Given the description of an element on the screen output the (x, y) to click on. 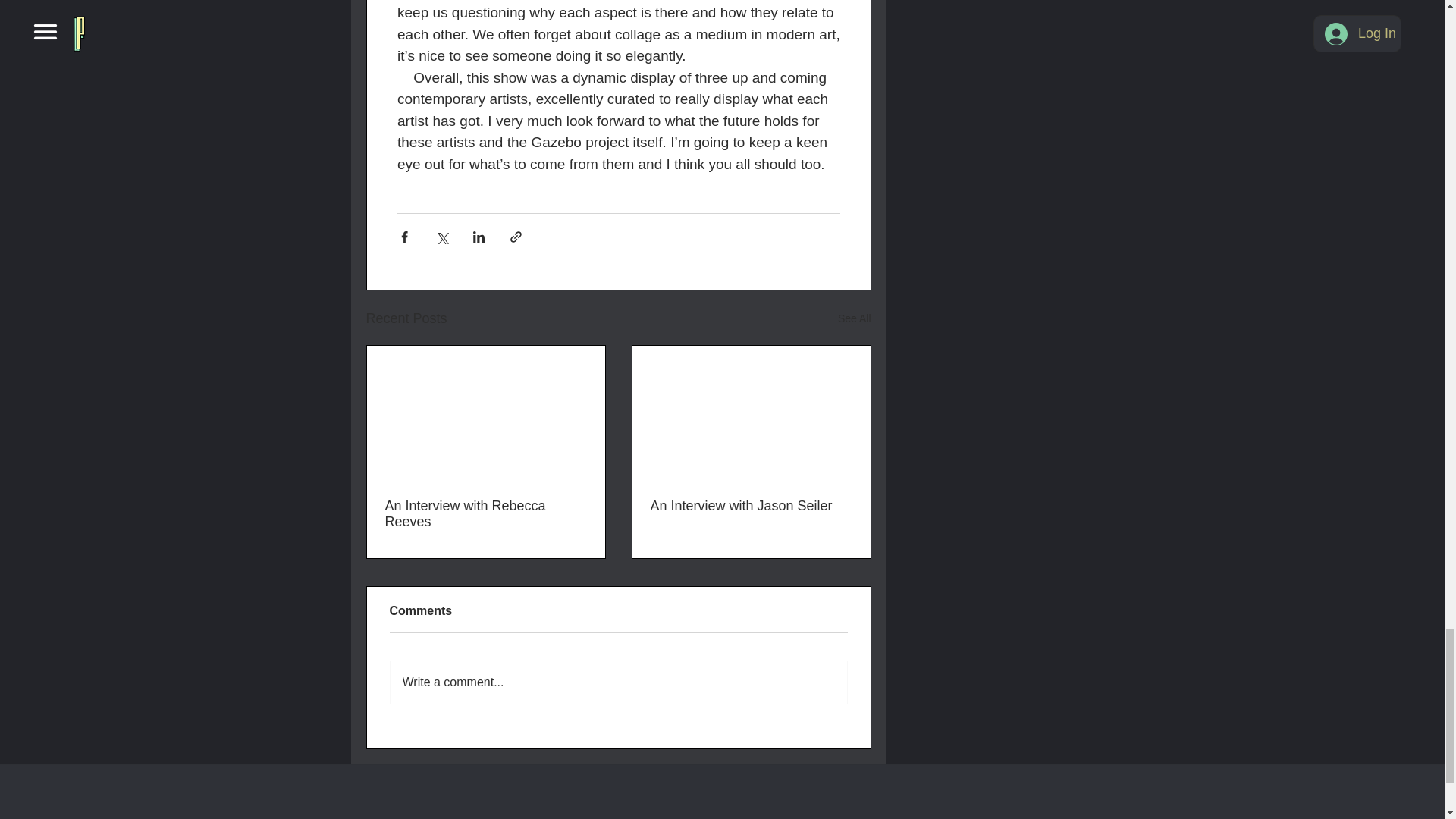
Write a comment... (617, 681)
An Interview with Jason Seiler (750, 505)
An Interview with Rebecca Reeves (485, 513)
See All (854, 318)
